Given the description of an element on the screen output the (x, y) to click on. 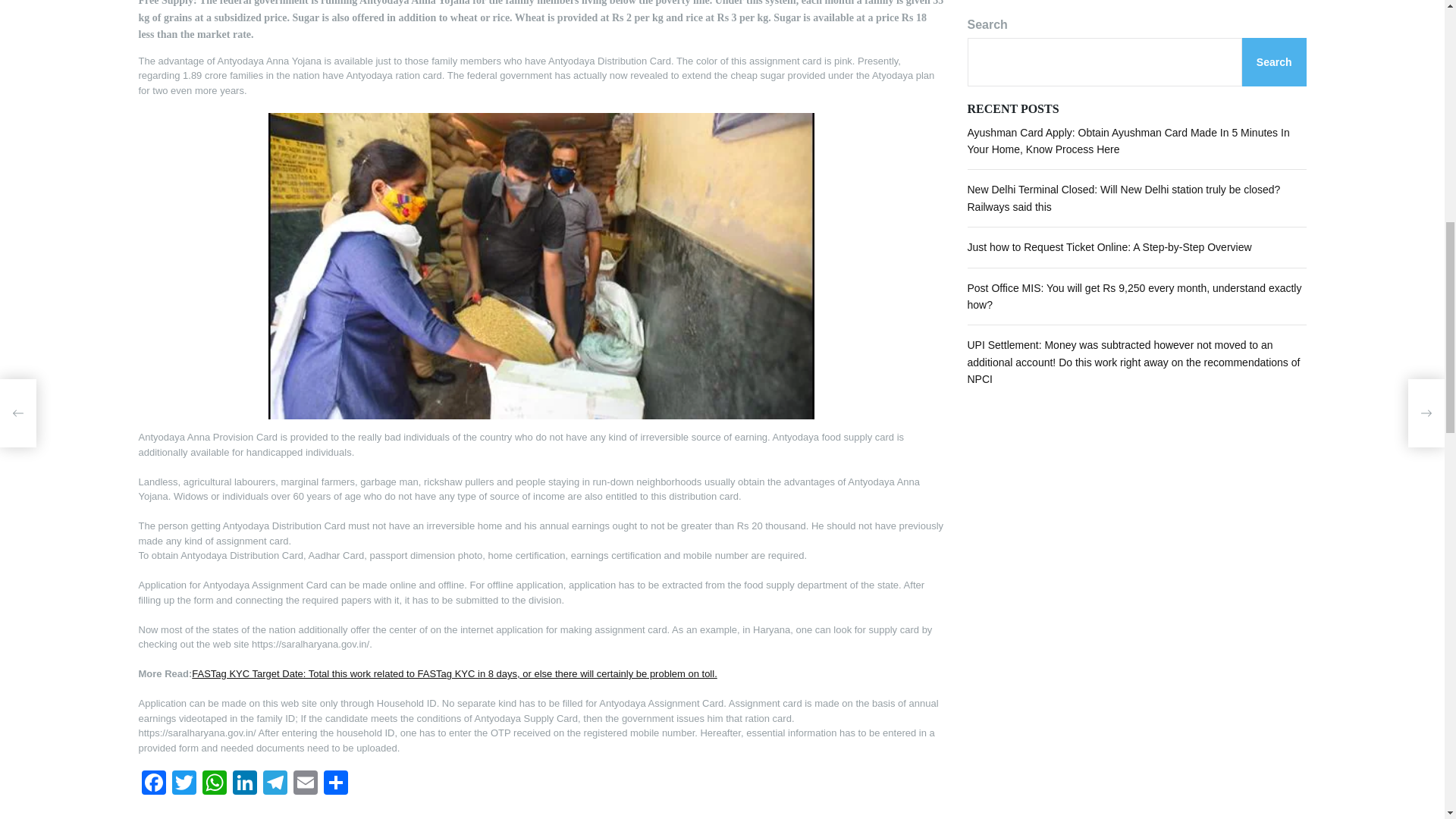
Telegram (274, 784)
Facebook (153, 784)
Twitter (183, 784)
LinkedIn (243, 784)
WhatsApp (213, 784)
Email (304, 784)
